Given the description of an element on the screen output the (x, y) to click on. 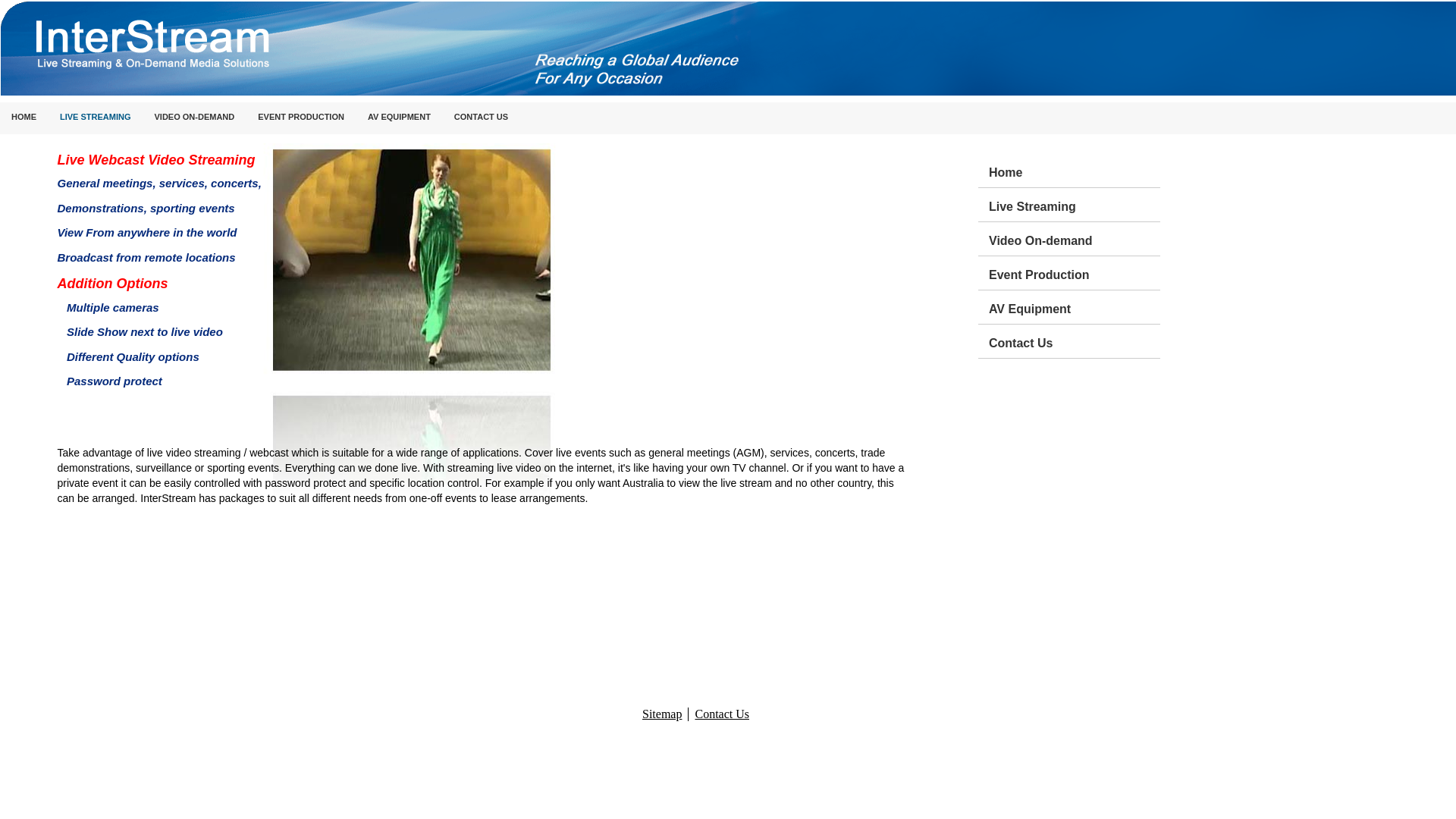
EVENT PRODUCTION Element type: text (300, 118)
Sitemap Element type: text (661, 713)
Live Streaming Element type: text (1074, 204)
LIVE STREAMING Element type: text (95, 118)
Event Production Element type: text (1074, 272)
Home Element type: text (1074, 170)
AV Equipment Element type: text (1074, 306)
HOME Element type: text (23, 118)
CONTACT US Element type: text (480, 118)
Contact Us Element type: text (1074, 340)
Contact Us Element type: text (721, 713)
Video On-demand Element type: text (1074, 238)
VIDEO ON-DEMAND Element type: text (194, 118)
AV EQUIPMENT Element type: text (399, 118)
